Given the description of an element on the screen output the (x, y) to click on. 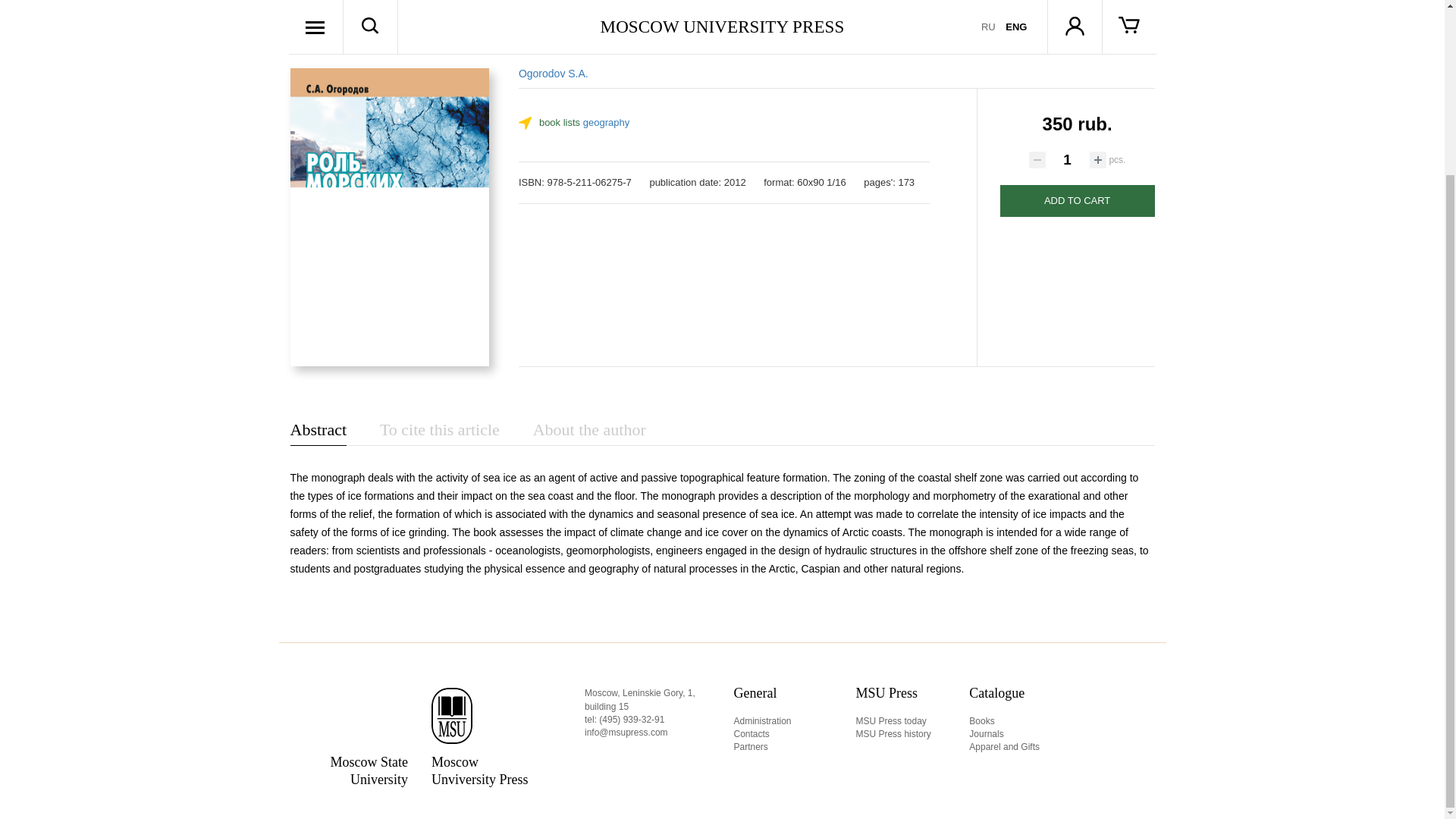
ADD TO CART (1077, 201)
Ogorodov S.A. (553, 73)
1 (1067, 159)
geography (605, 122)
